Given the description of an element on the screen output the (x, y) to click on. 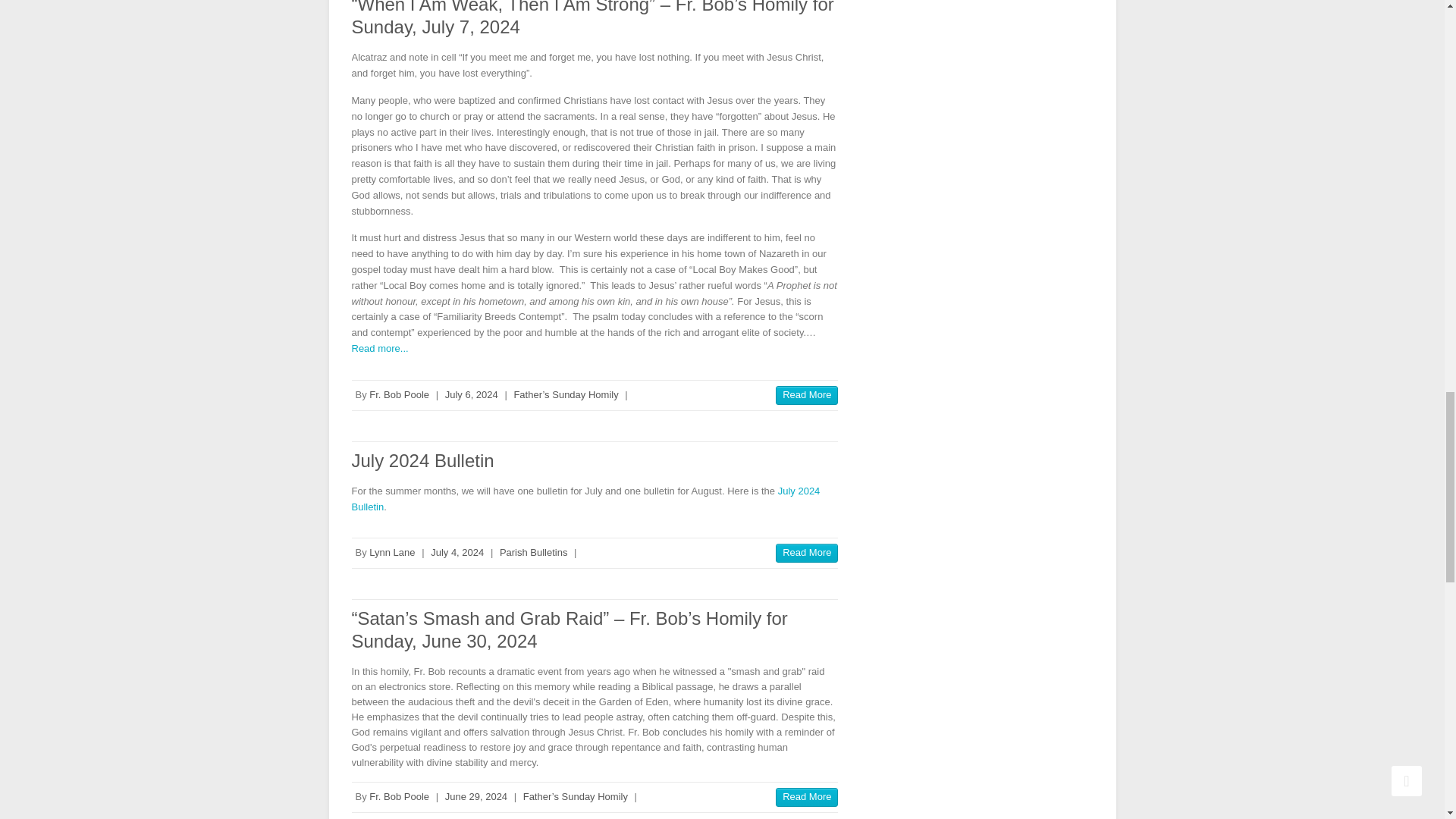
5:30 pm (471, 394)
